Given the description of an element on the screen output the (x, y) to click on. 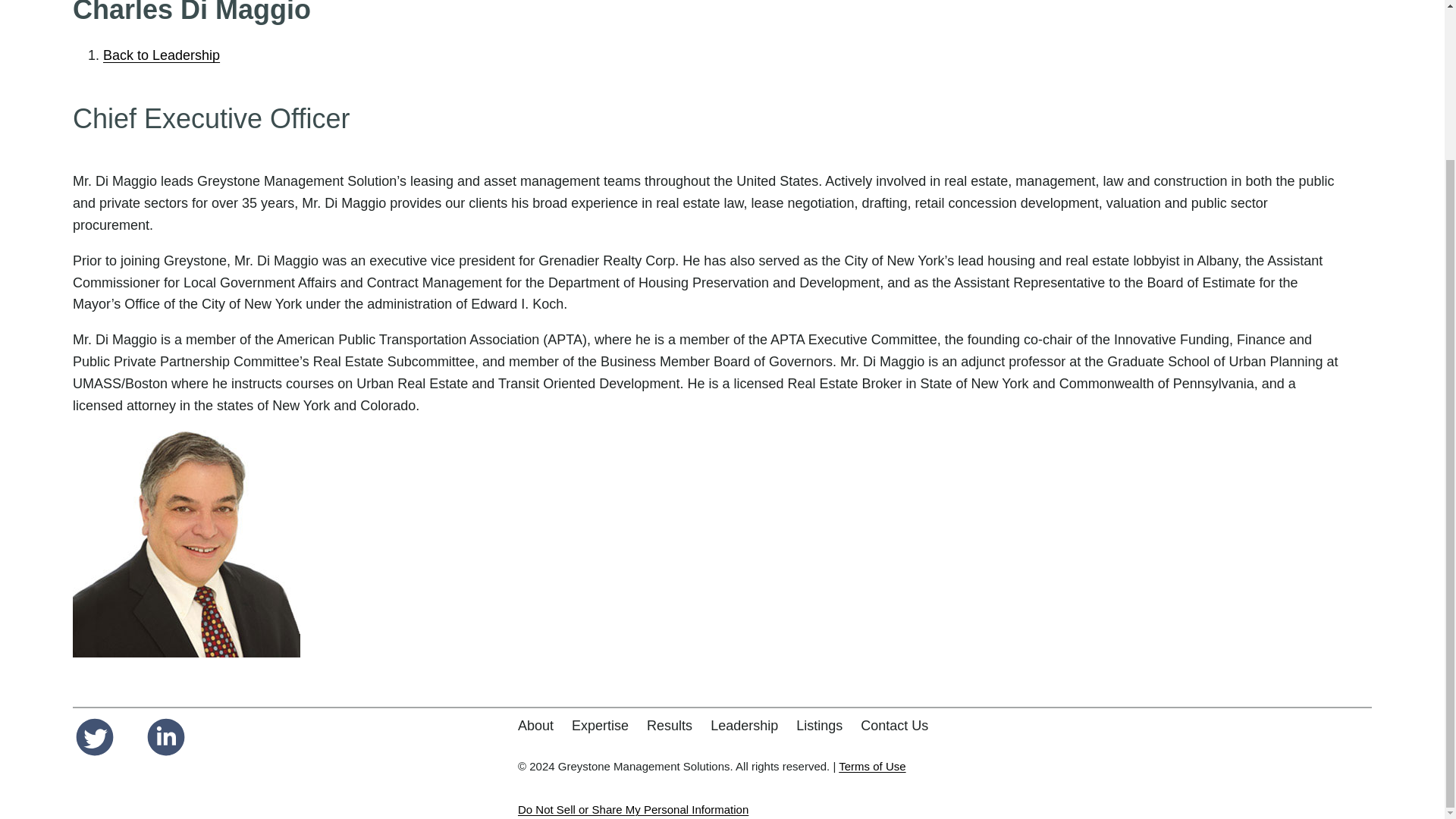
Do Not Sell or Share My Personal Information (633, 809)
Contact Us (894, 725)
Expertise (600, 725)
Back to Leadership (161, 55)
View All Leadership (161, 55)
Results (669, 725)
Listings (819, 725)
Terms of Use (871, 766)
About (535, 725)
Leadership (743, 725)
